Given the description of an element on the screen output the (x, y) to click on. 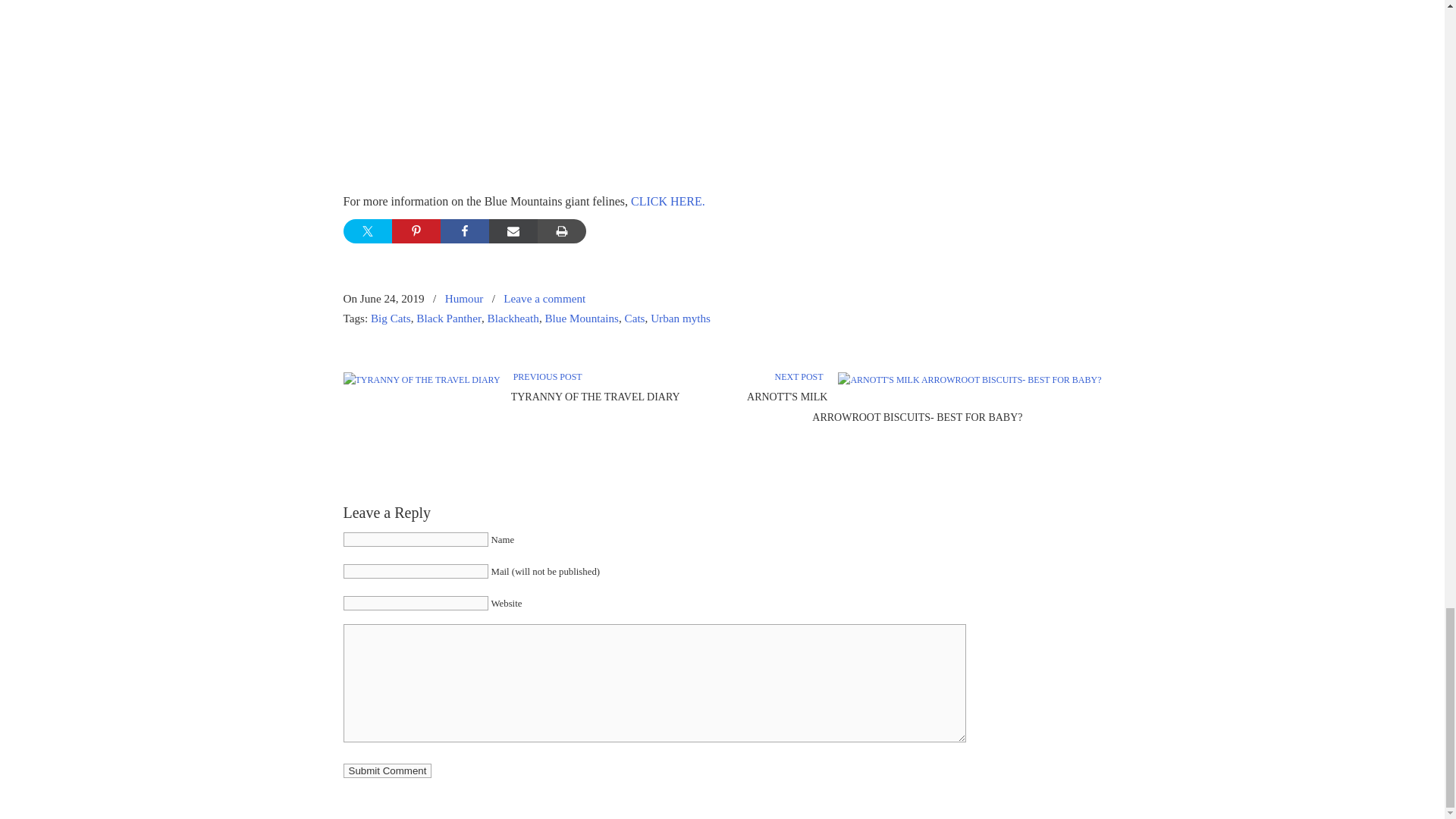
TYRANNY OF THE TRAVEL DIARY (595, 396)
Share on Pinterest (415, 231)
Cats (634, 318)
Humour (464, 298)
Go to next post (801, 376)
Share via Email (512, 231)
TYRANNY OF THE TRAVEL DIARY (595, 396)
CLICK HERE. (667, 201)
Blue Mountains (580, 318)
Blackheath (512, 318)
